Given the description of an element on the screen output the (x, y) to click on. 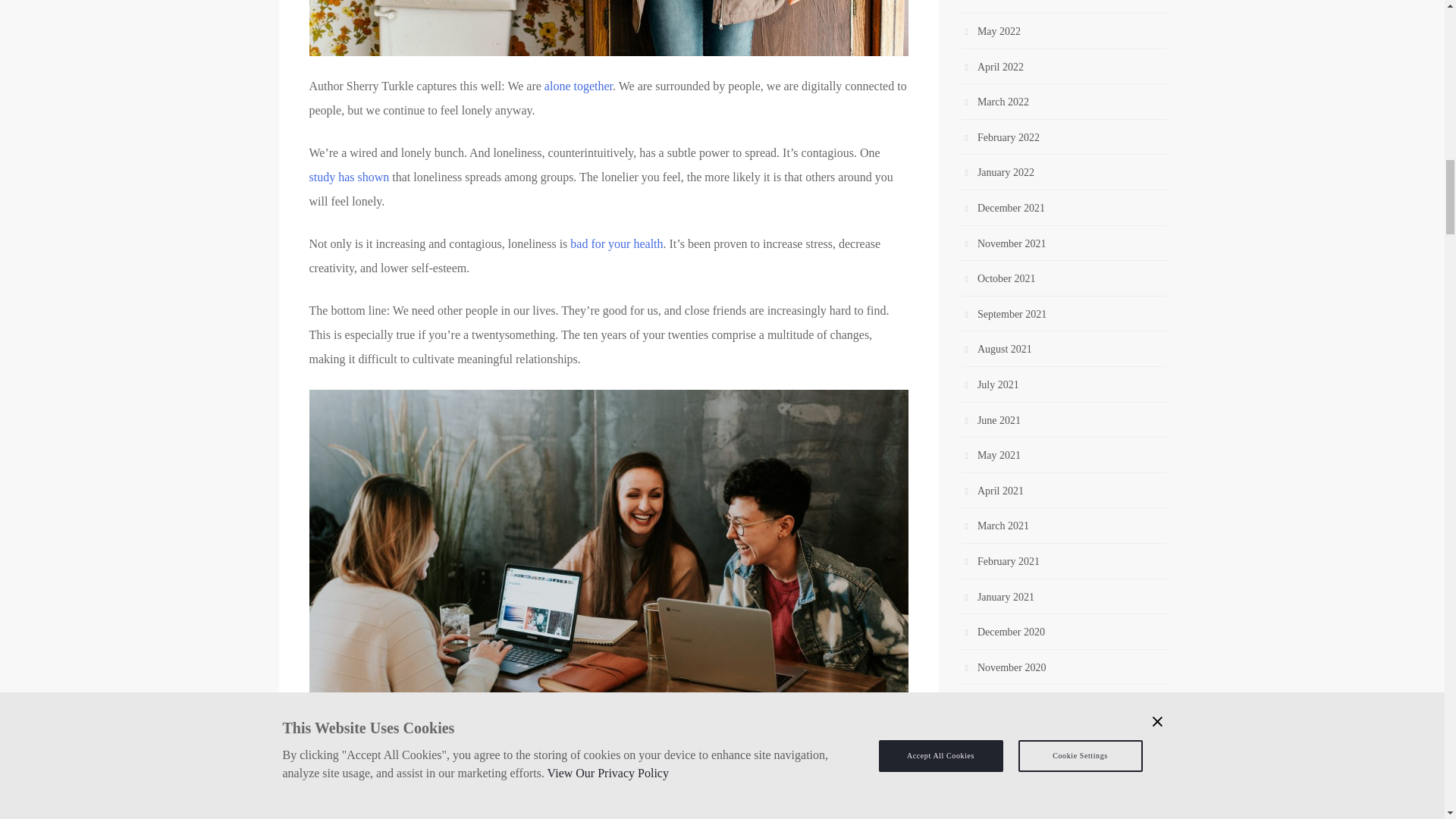
study has shown (349, 176)
bad for your health (616, 243)
alone together (578, 85)
